Given the description of an element on the screen output the (x, y) to click on. 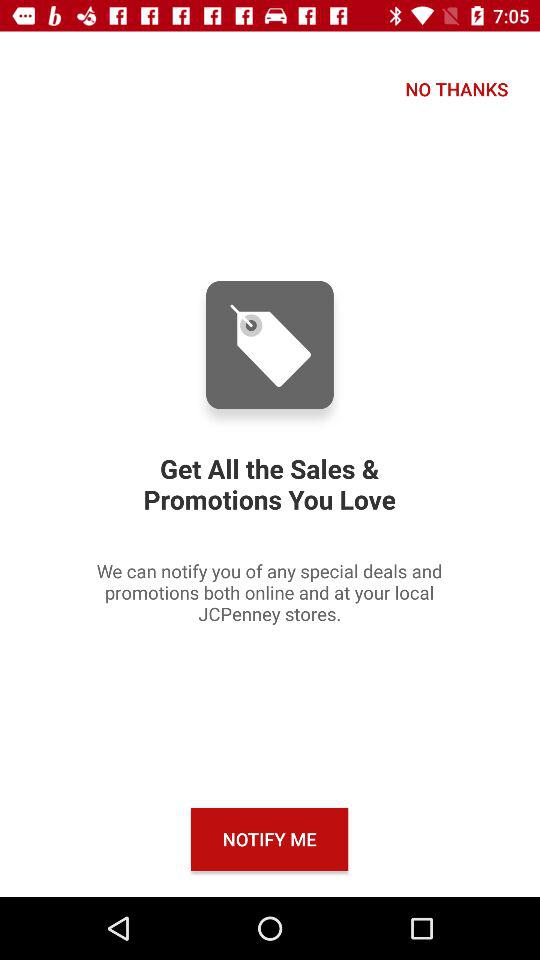
press the no thanks (456, 88)
